Given the description of an element on the screen output the (x, y) to click on. 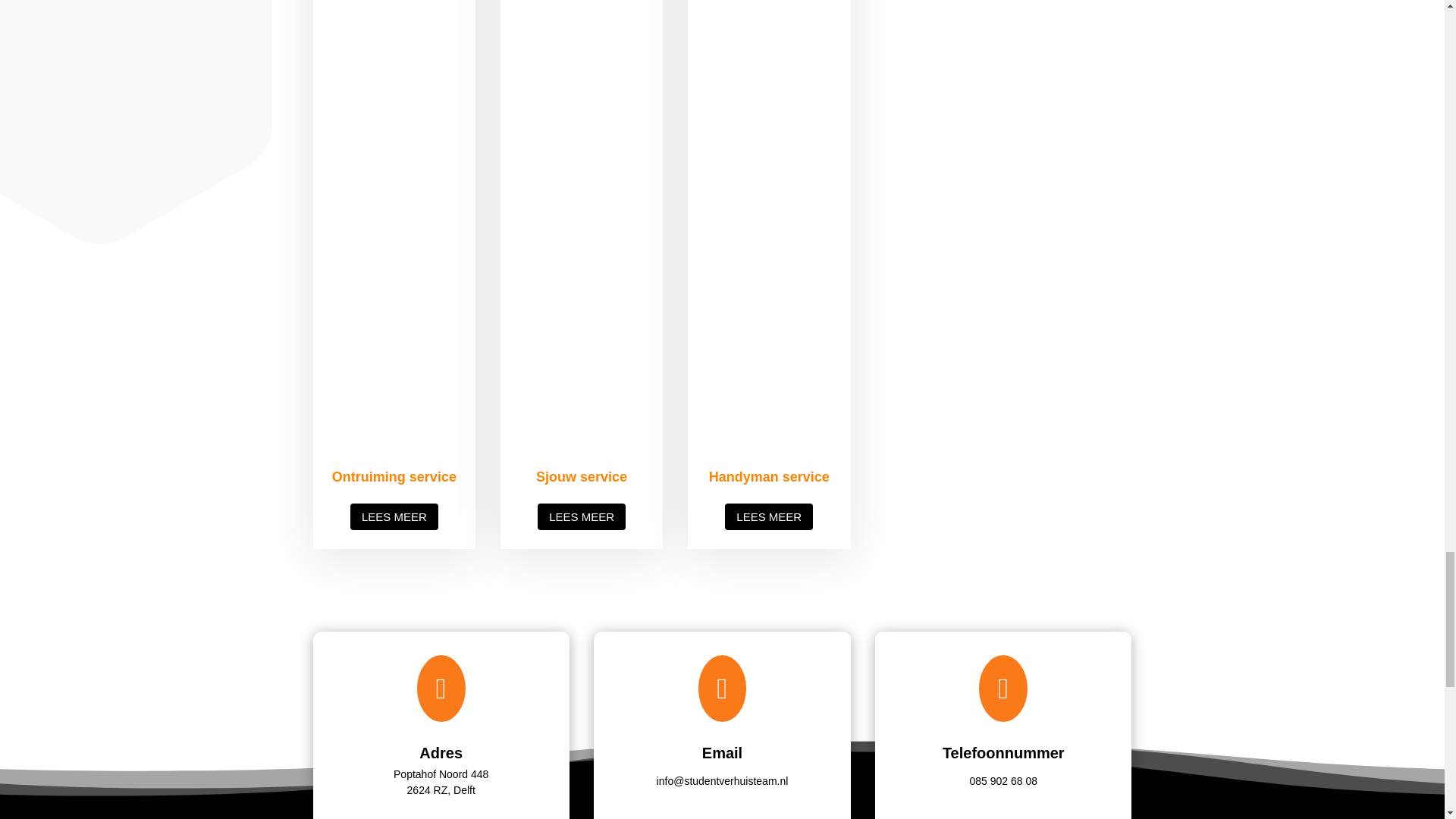
LEES MEER (394, 516)
